Given the description of an element on the screen output the (x, y) to click on. 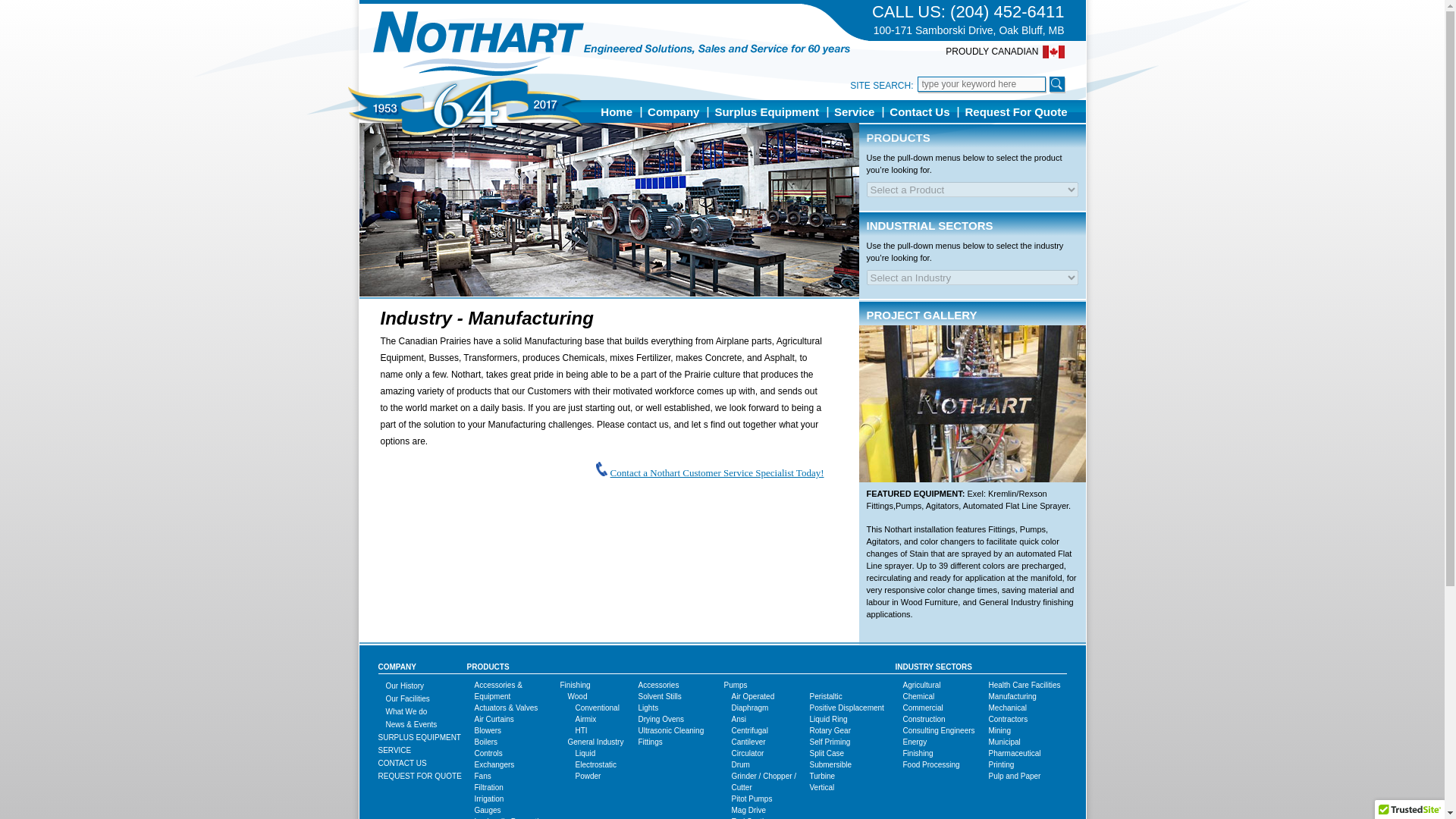
COMPANY (395, 666)
Blowers (488, 730)
Contact Us (919, 111)
Exchangers (494, 764)
Fans (483, 776)
Controls (488, 753)
Irrigation (488, 798)
Contact a Nothart Customer Service Specialist Today! (717, 472)
PRODUCTS (488, 666)
Company (673, 111)
Service (854, 111)
Used Equipment (418, 737)
CONTACT US (401, 763)
Service (393, 750)
Company (673, 111)
